Given the description of an element on the screen output the (x, y) to click on. 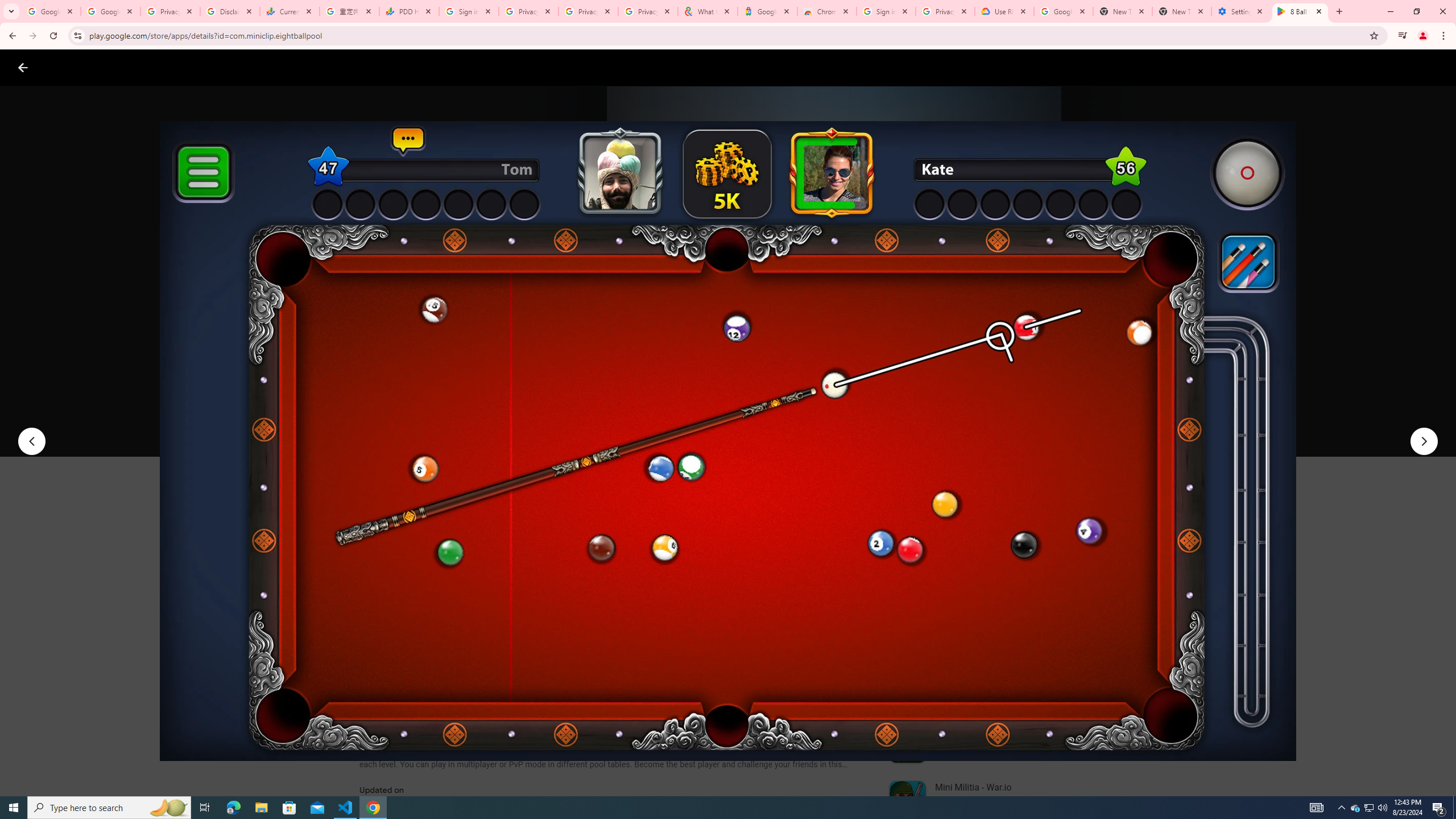
8 Ball Pool - Apps on Google Play (1300, 11)
Open account menu (1436, 67)
More info about this content rating (575, 385)
Chrome Web Store - Color themes by Chrome (826, 11)
Share (506, 422)
Screenshot image (817, 563)
Games (141, 67)
Add to wishlist (576, 422)
